Given the description of an element on the screen output the (x, y) to click on. 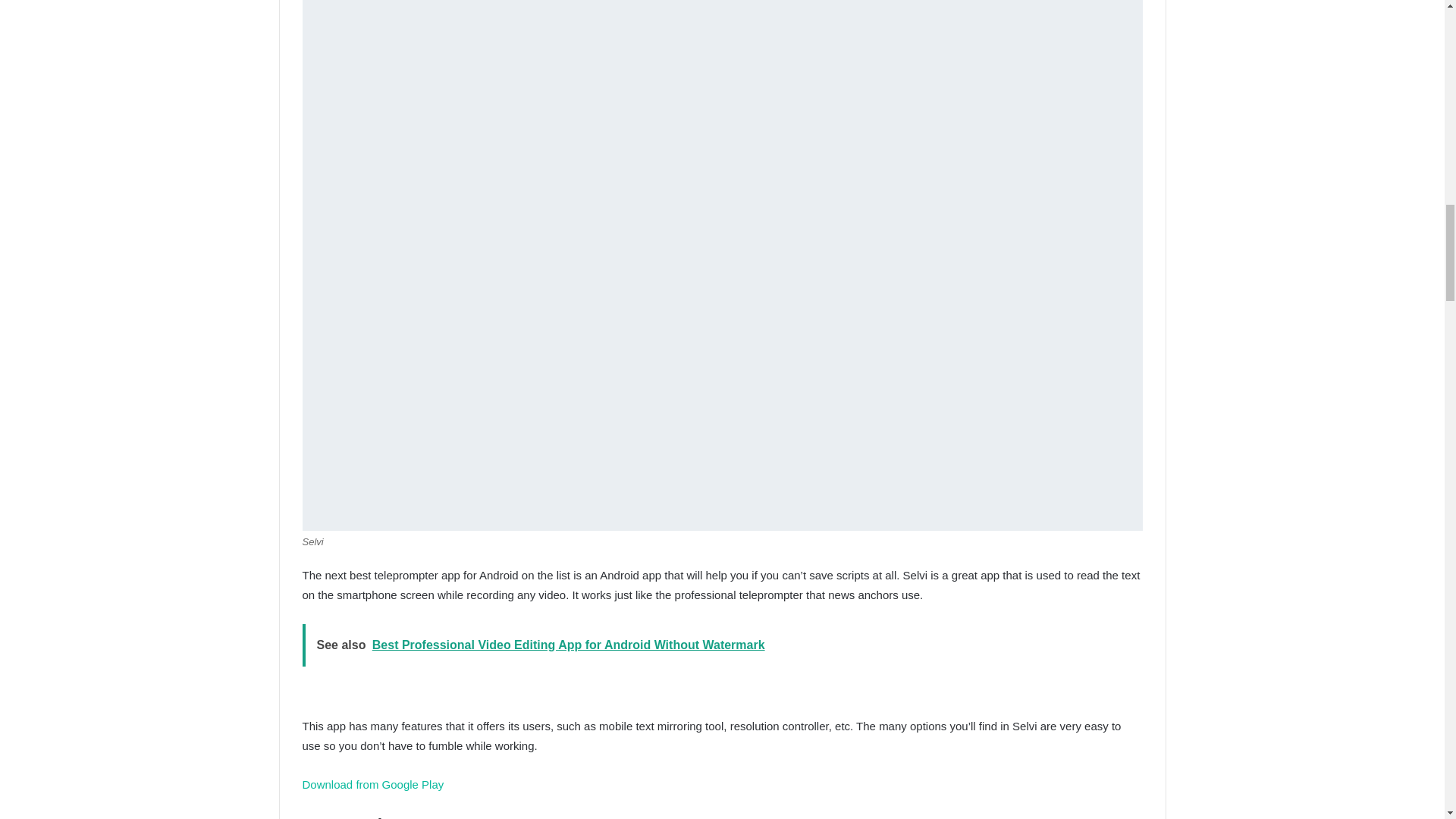
Download from Google Play (372, 784)
